Given the description of an element on the screen output the (x, y) to click on. 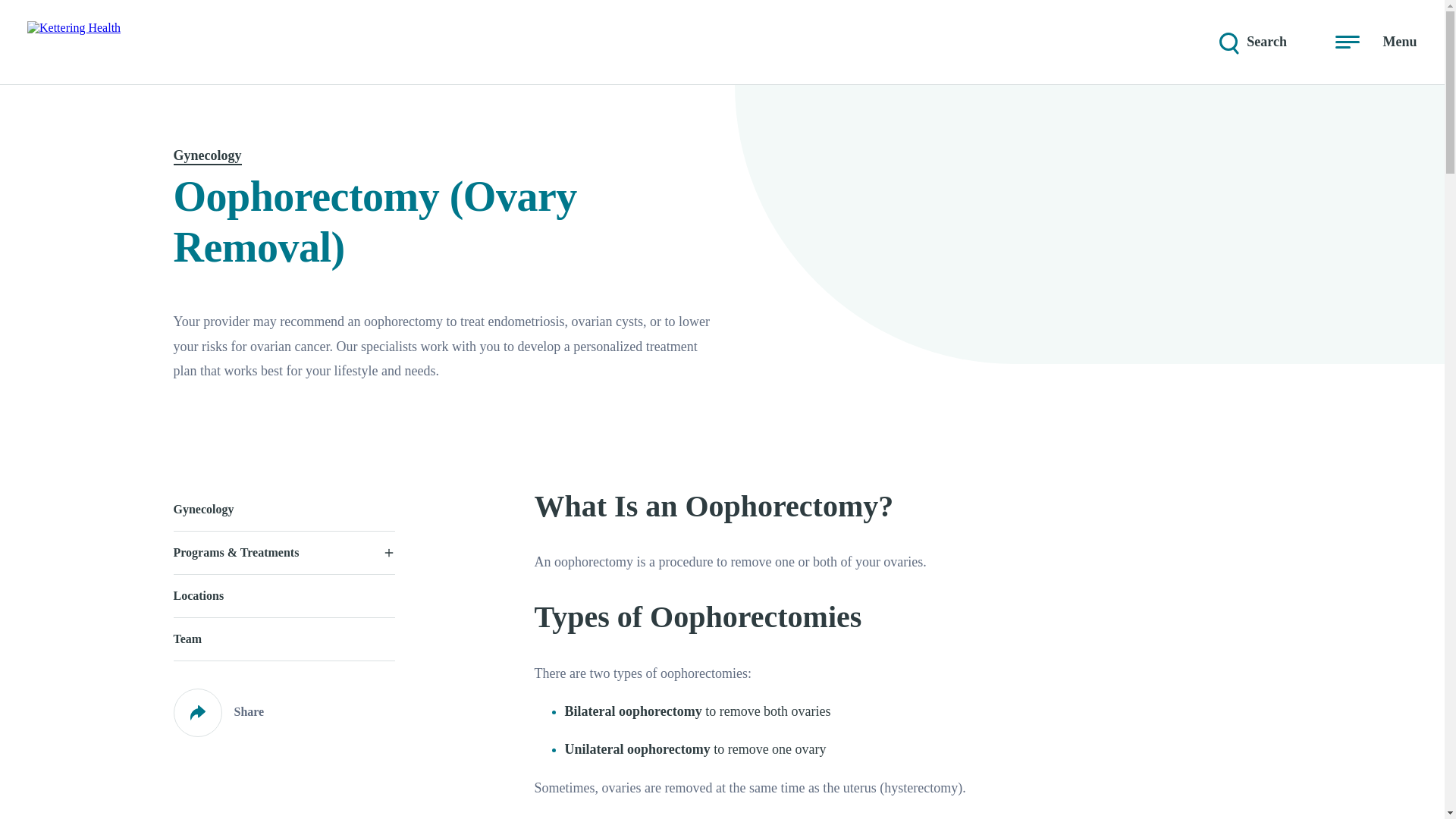
Menu (1375, 42)
Search (1251, 42)
